Given the description of an element on the screen output the (x, y) to click on. 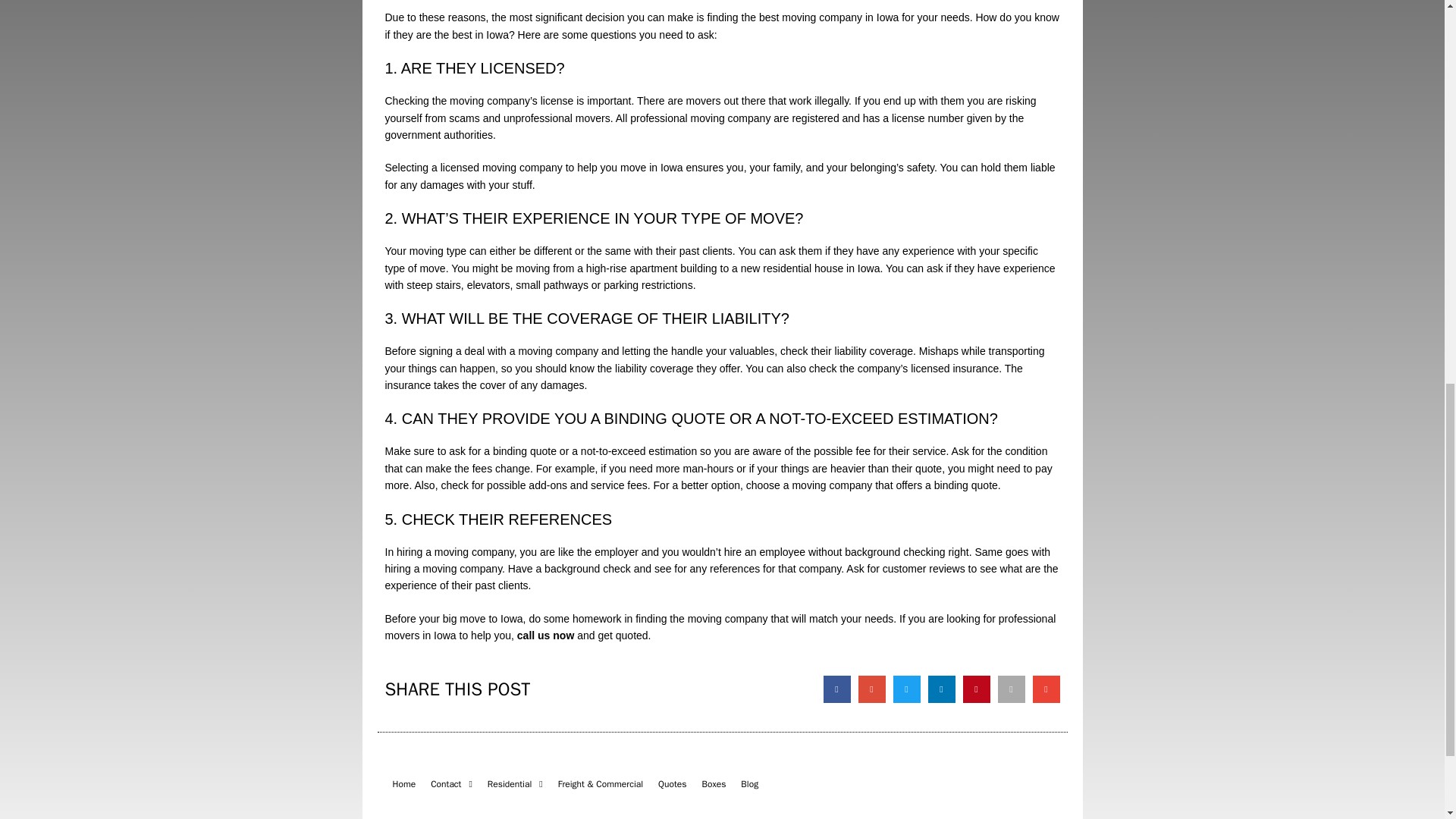
Residential (515, 783)
call us now (544, 635)
Quotes (672, 783)
Home (404, 783)
Boxes (713, 783)
Contact (451, 783)
Blog (749, 783)
professional movers in Iowa (721, 626)
